Given the description of an element on the screen output the (x, y) to click on. 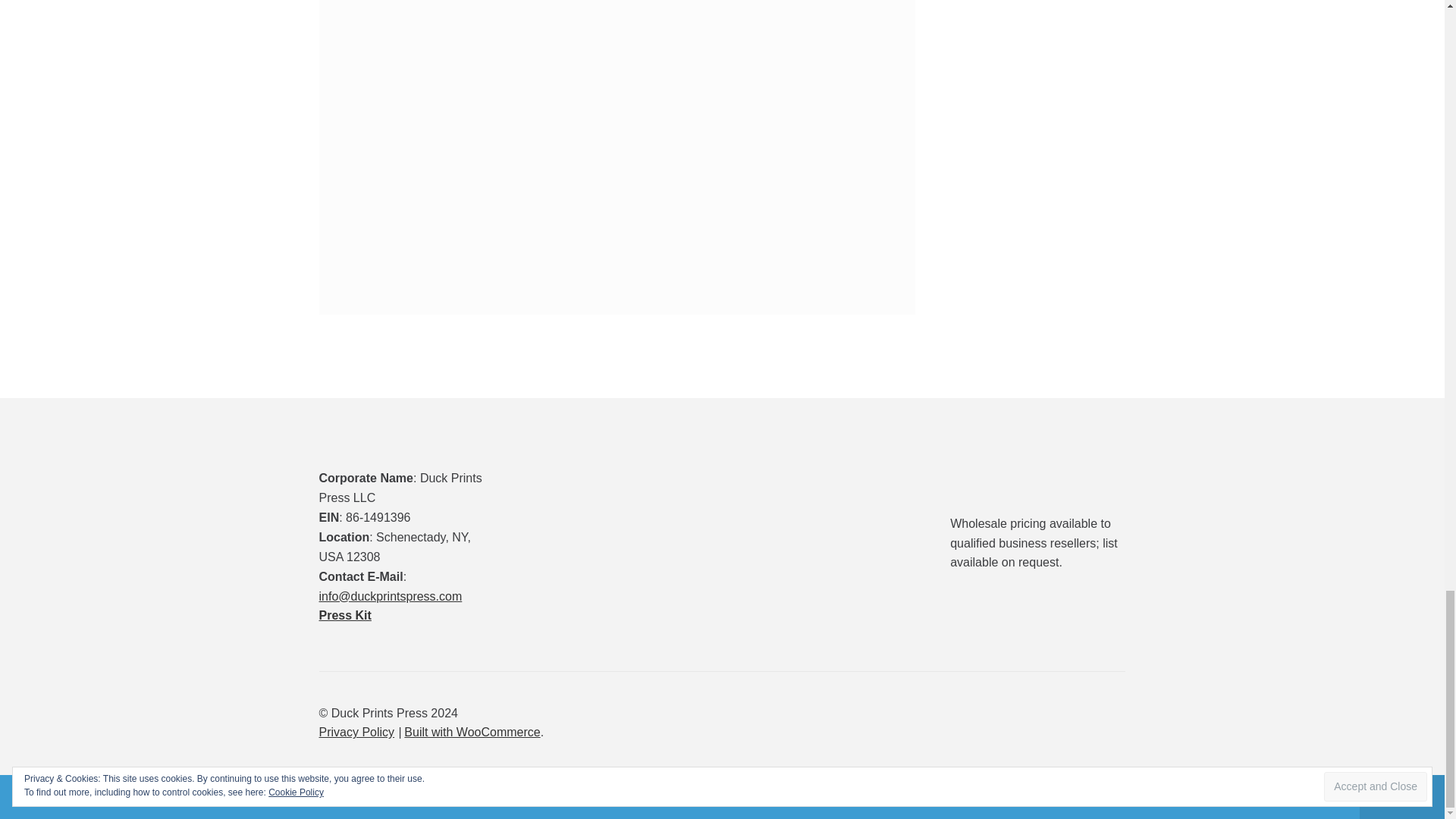
WooCommerce - The Best eCommerce Platform for WordPress (472, 731)
